Given the description of an element on the screen output the (x, y) to click on. 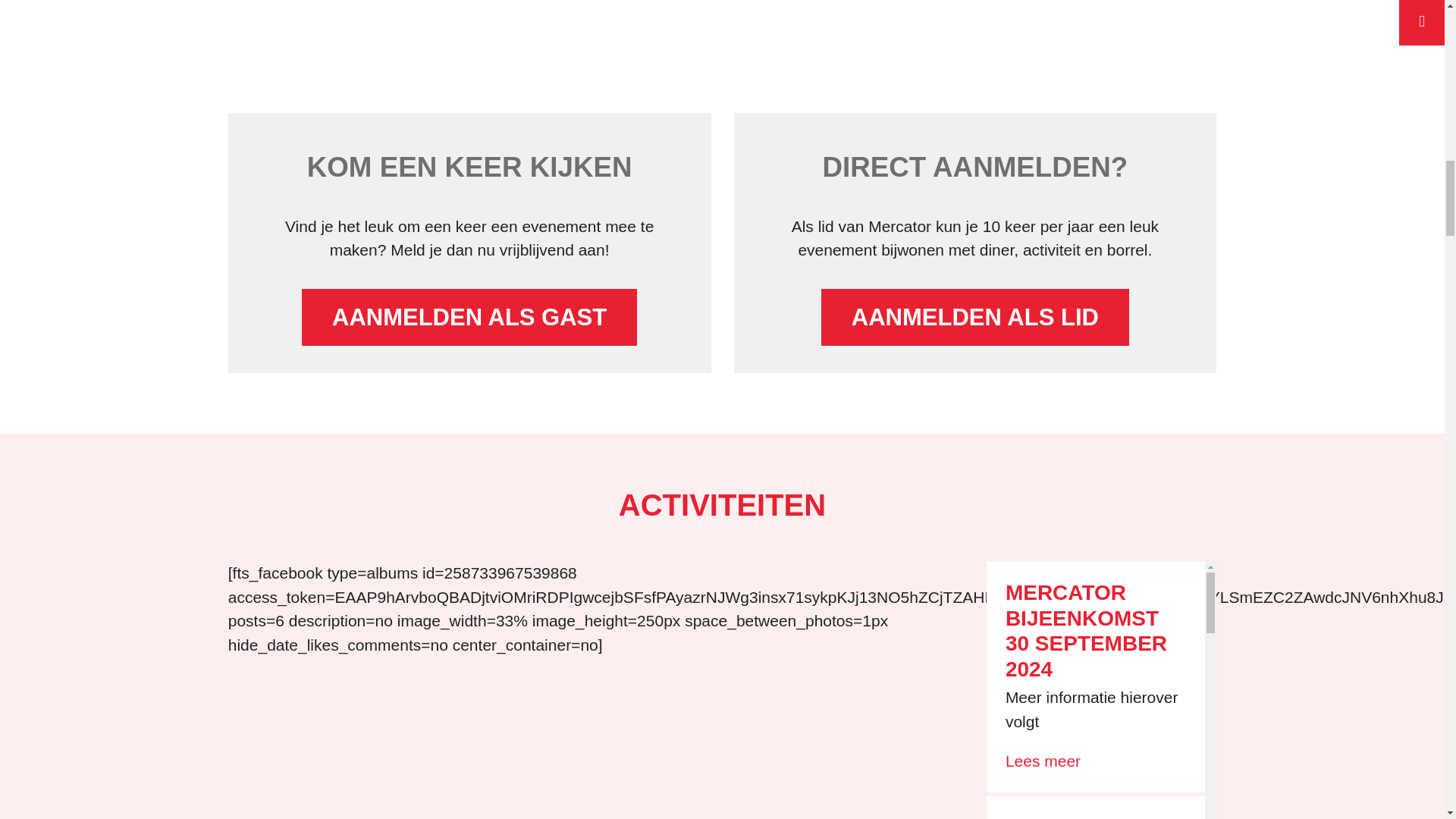
AANMELDEN ALS LID (975, 317)
Mercator Businessclub 20-jarig jubileumfeest (721, 22)
AANMELDEN ALS GAST (469, 317)
Lees meer (1043, 760)
AANMELDEN ALS LID (975, 317)
AANMELDEN ALS GAST (469, 317)
